Given the description of an element on the screen output the (x, y) to click on. 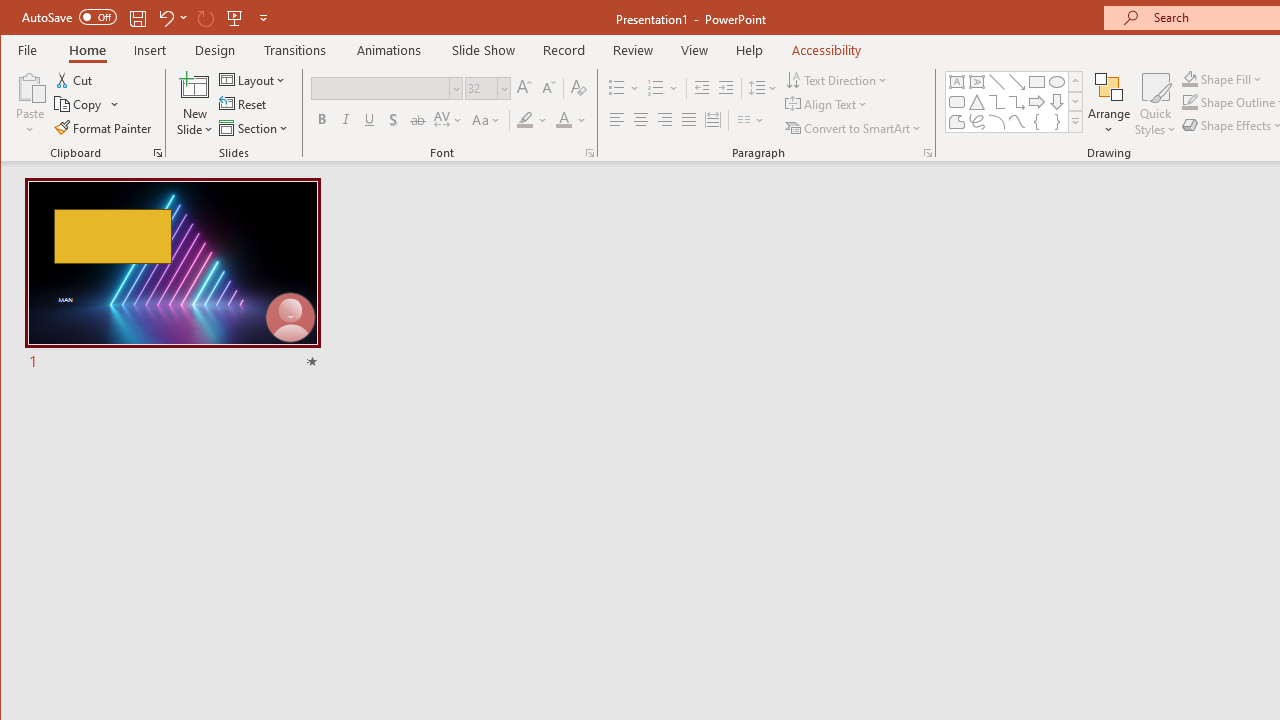
Clear Formatting (579, 88)
Distributed (712, 119)
Connector: Elbow (996, 102)
Right Brace (1057, 121)
Line (996, 82)
Shadow (393, 119)
Vertical Text Box (976, 82)
Align Text (828, 103)
Decrease Indent (701, 88)
Layout (253, 80)
